Given the description of an element on the screen output the (x, y) to click on. 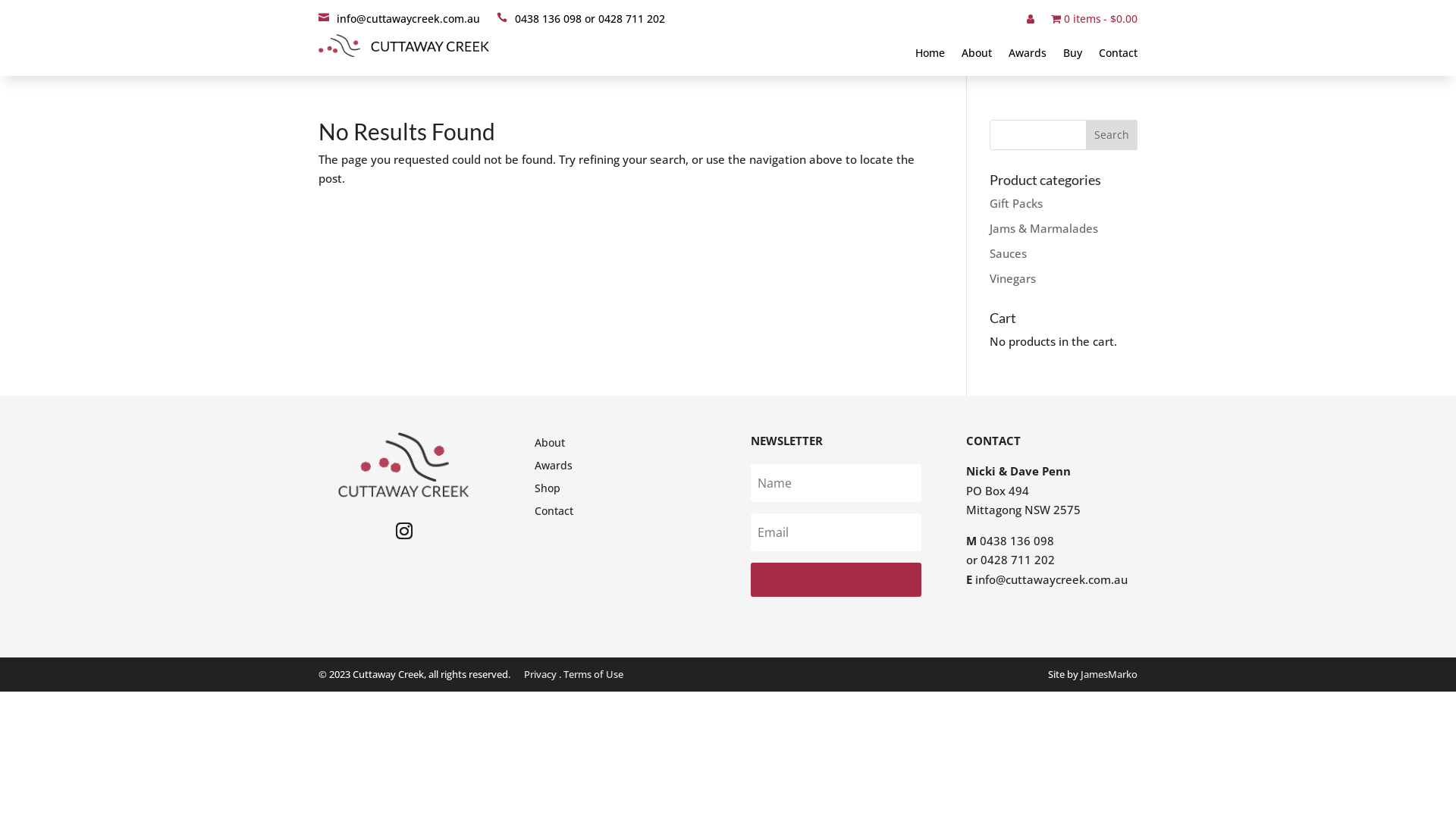
Awards Element type: text (1027, 55)
Privacy Element type: text (540, 673)
Contact Element type: text (553, 513)
logo-cuttaway-creek-footer Element type: hover (403, 465)
Buy Element type: text (1072, 55)
Vinegars Element type: text (1012, 277)
About Element type: text (549, 445)
Gift Packs Element type: text (1015, 202)
info@cuttawaycreek.com.au Element type: text (399, 21)
Home Element type: text (929, 55)
Shop Element type: text (547, 491)
logo-main Element type: hover (403, 46)
Follow on Instagram Element type: hover (403, 530)
SUBSCRIBE Element type: text (835, 579)
Contact Element type: text (1117, 55)
0438 136 098 or 0428 711 202 Element type: text (580, 21)
JamesMarko Element type: text (1108, 673)
info@cuttawaycreek.com.au Element type: text (1051, 578)
Sauces Element type: text (1007, 252)
Jams & Marmalades Element type: text (1043, 227)
Terms of Use Element type: text (593, 673)
Search Element type: text (1111, 134)
About Element type: text (976, 55)
0 items$0.00 Element type: text (1094, 21)
Awards Element type: text (553, 468)
